Given the description of an element on the screen output the (x, y) to click on. 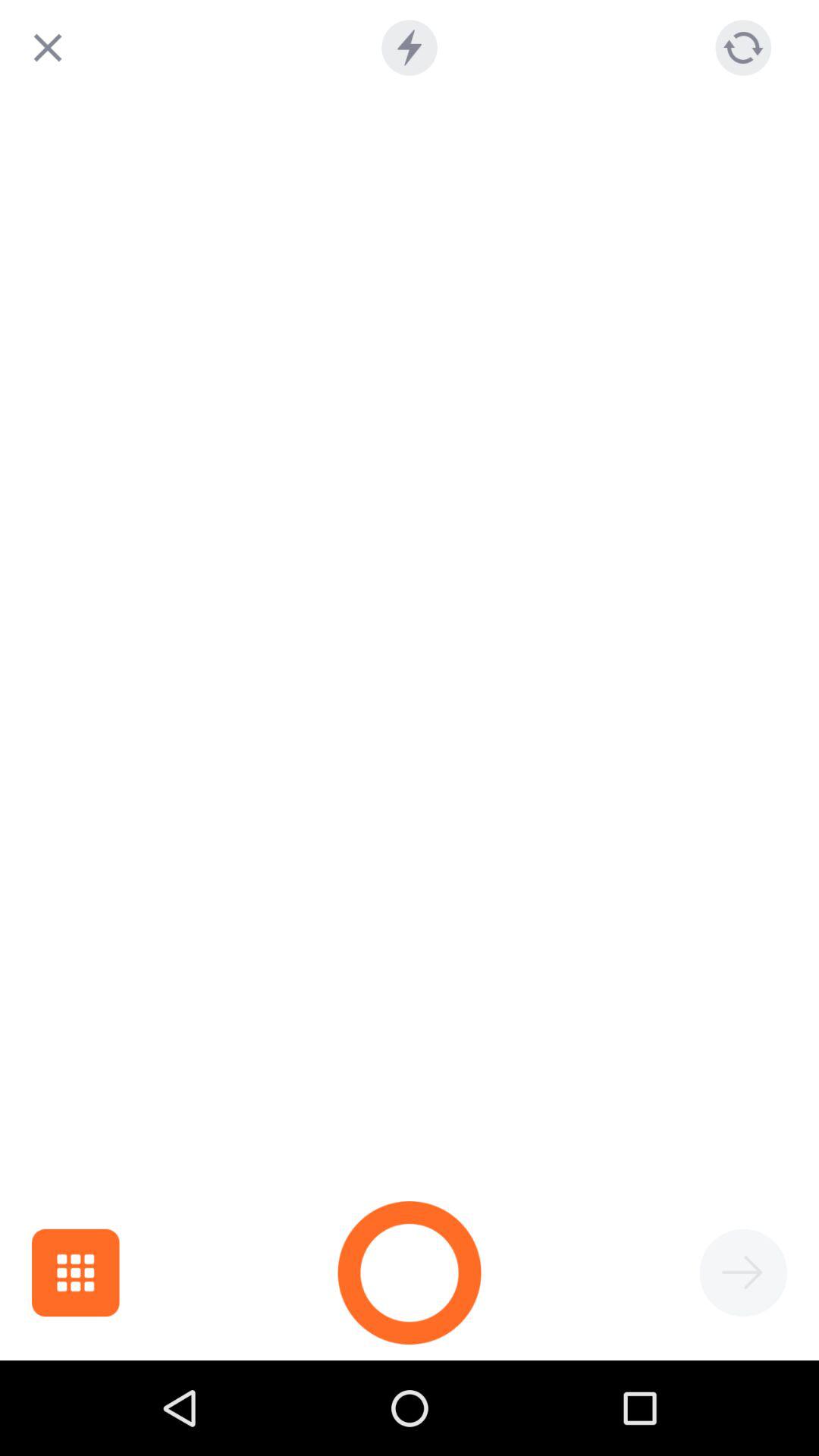
select icon at the top right corner (743, 47)
